Given the description of an element on the screen output the (x, y) to click on. 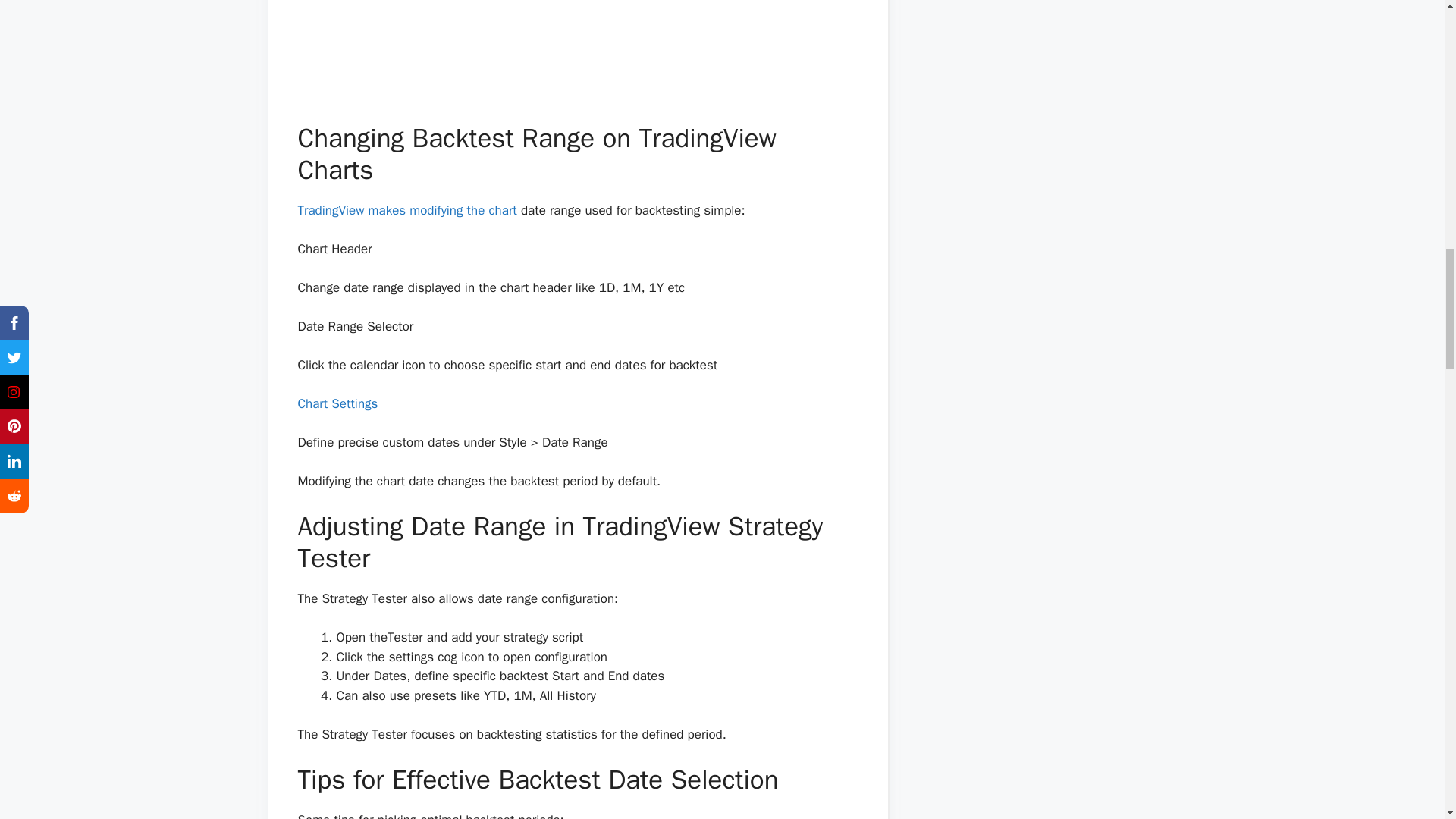
Chart Settings (337, 403)
YouTube video player (577, 48)
TradingView makes modifying the chart (406, 210)
